Given the description of an element on the screen output the (x, y) to click on. 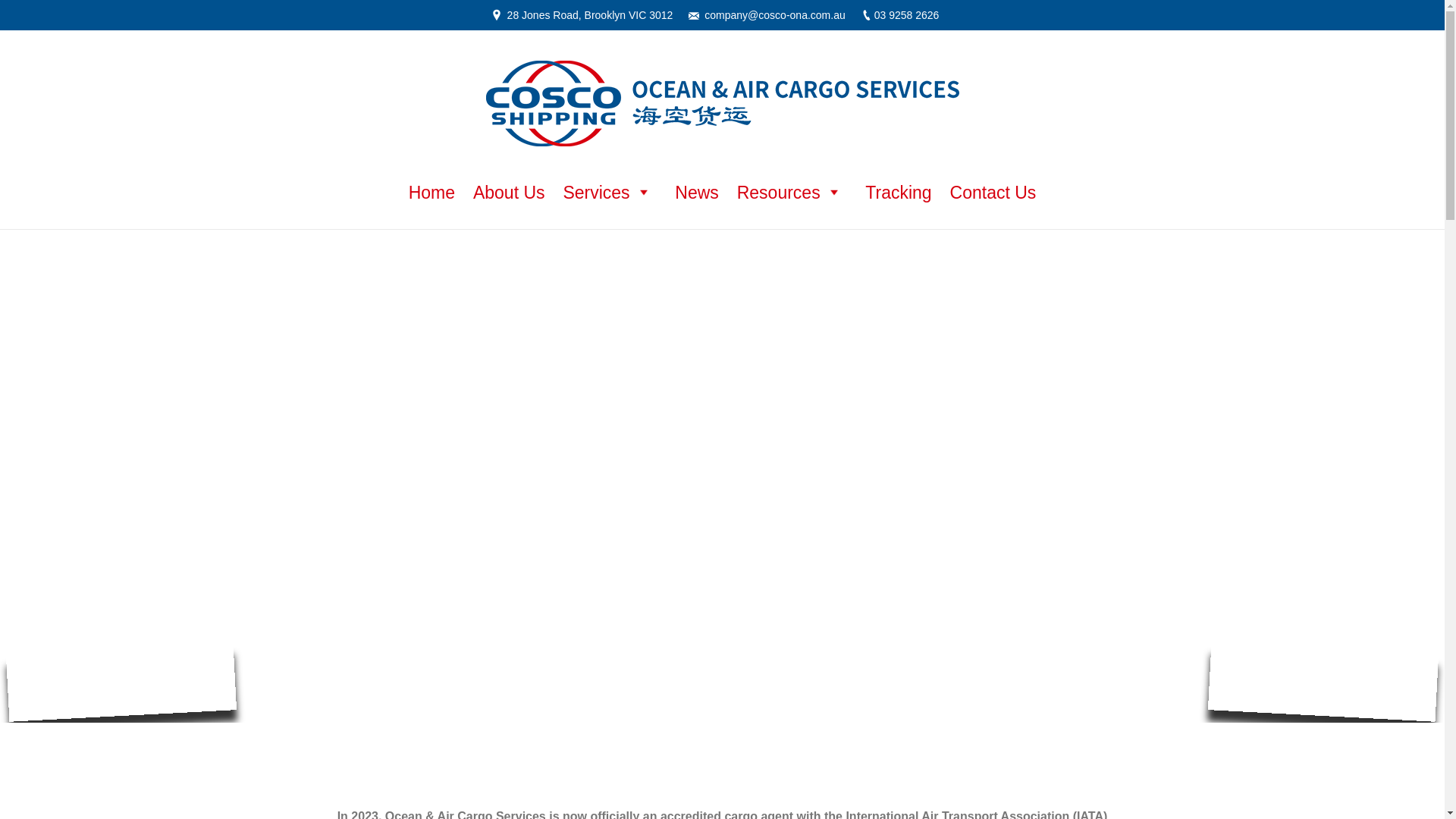
Resources Element type: text (792, 192)
Home Element type: text (431, 192)
About Us Element type: text (508, 192)
Services Element type: text (609, 192)
  Element type: text (729, 219)
Contact Us Element type: text (993, 192)
03 9258 2626 Element type: text (906, 15)
News Element type: text (696, 192)
company@cosco-ona.com.au Element type: text (774, 15)
Tracking Element type: text (897, 192)
Go! Element type: text (19, 13)
